Given the description of an element on the screen output the (x, y) to click on. 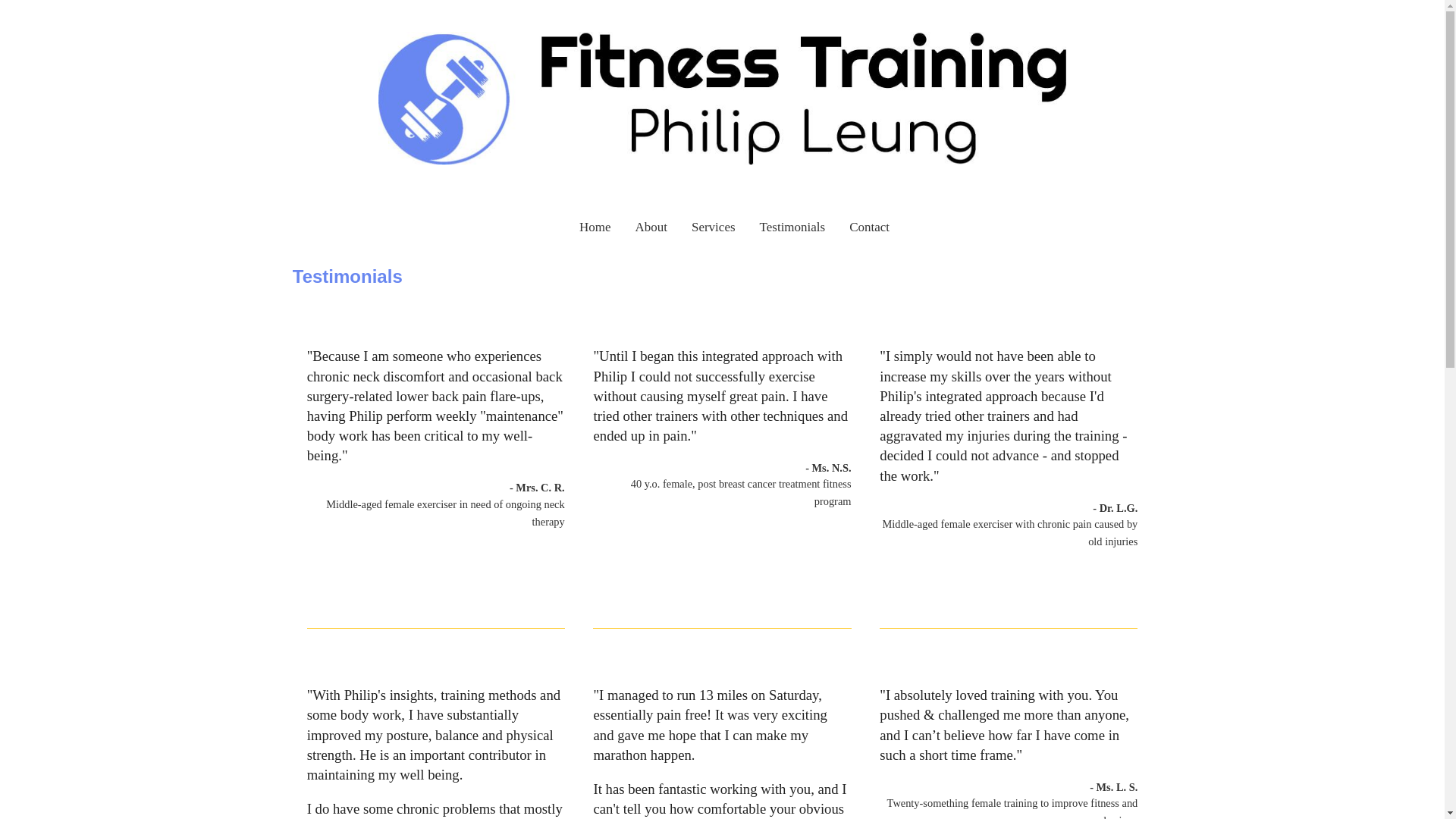
Contact (869, 227)
Services (713, 227)
Testimonials (793, 227)
Home (595, 227)
About (651, 227)
